Given the description of an element on the screen output the (x, y) to click on. 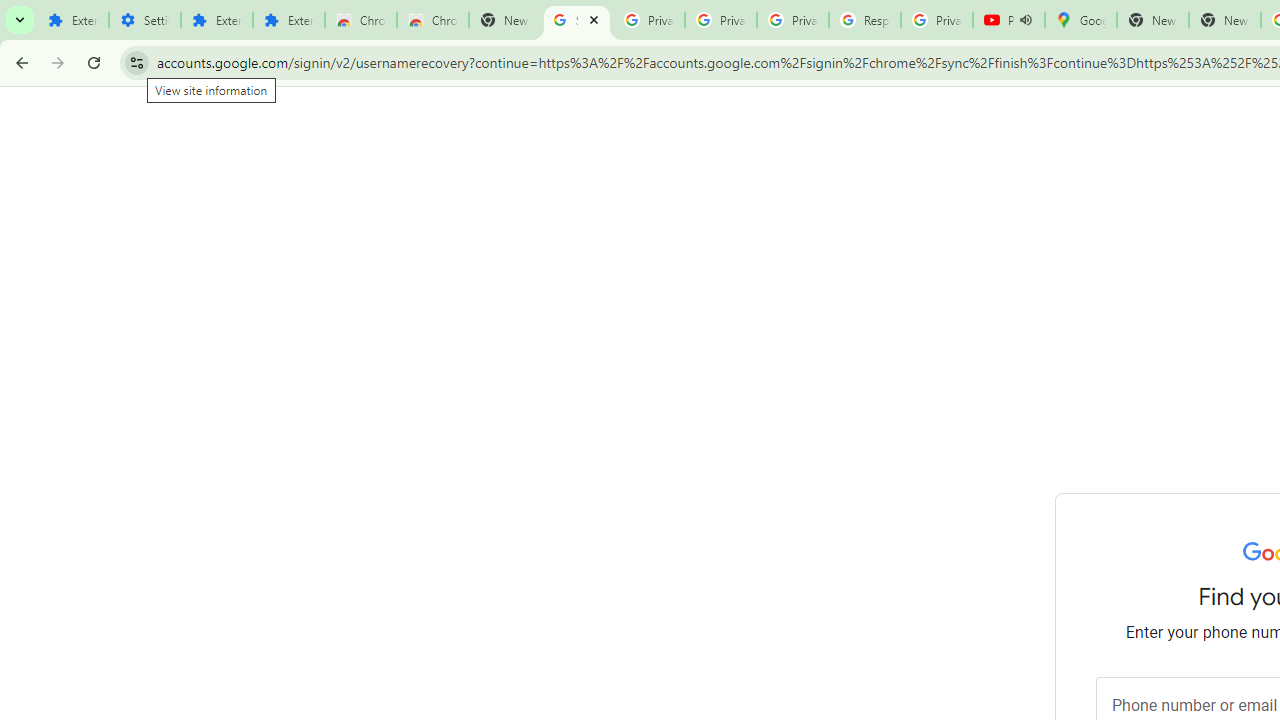
Extensions (72, 20)
Chrome Web Store - Themes (432, 20)
New Tab (504, 20)
Google Maps (1080, 20)
